Given the description of an element on the screen output the (x, y) to click on. 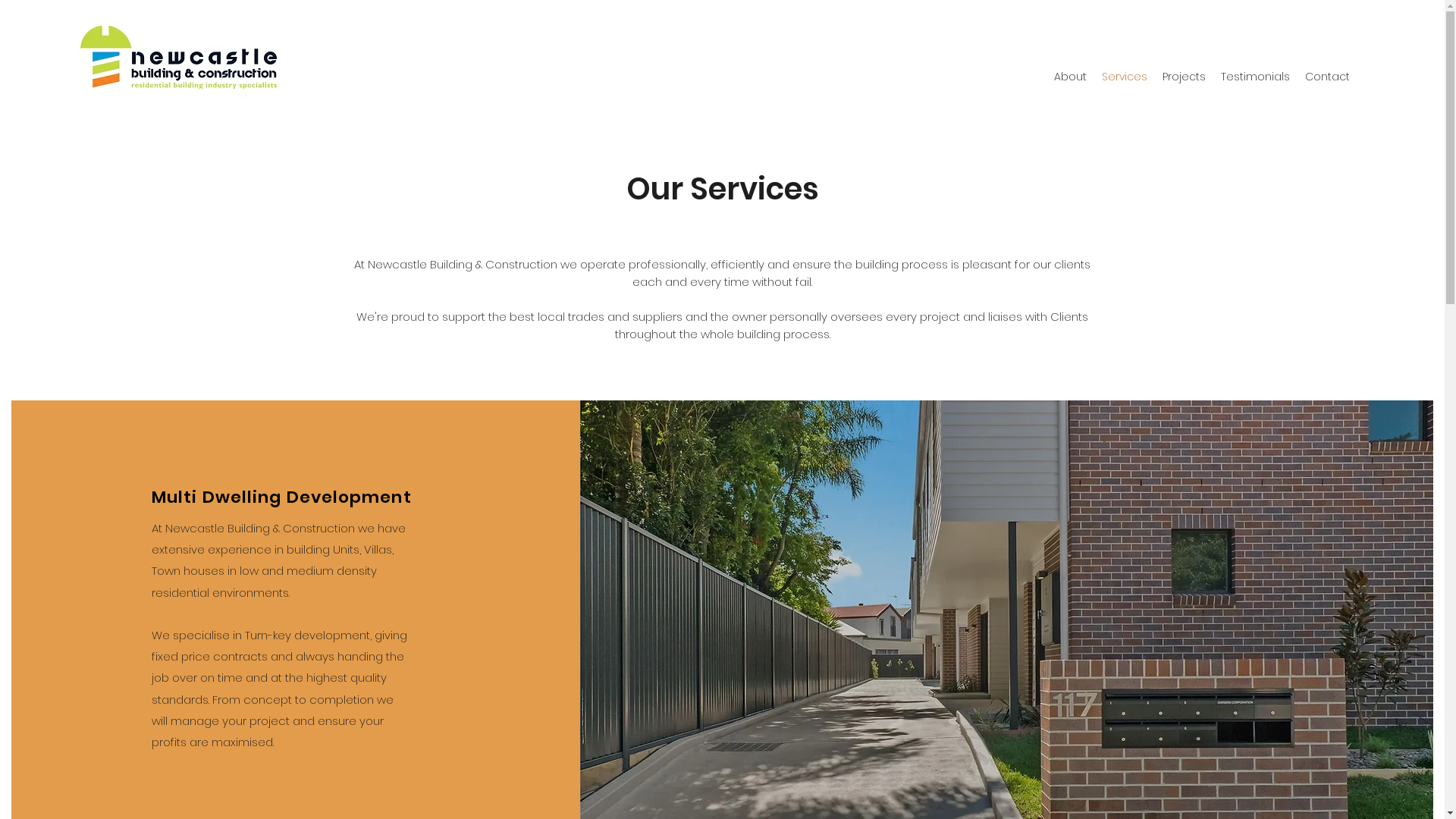
Projects Element type: text (1183, 76)
Testimonials Element type: text (1255, 76)
About Element type: text (1070, 76)
Contact Element type: text (1327, 76)
Services Element type: text (1124, 76)
